Given the description of an element on the screen output the (x, y) to click on. 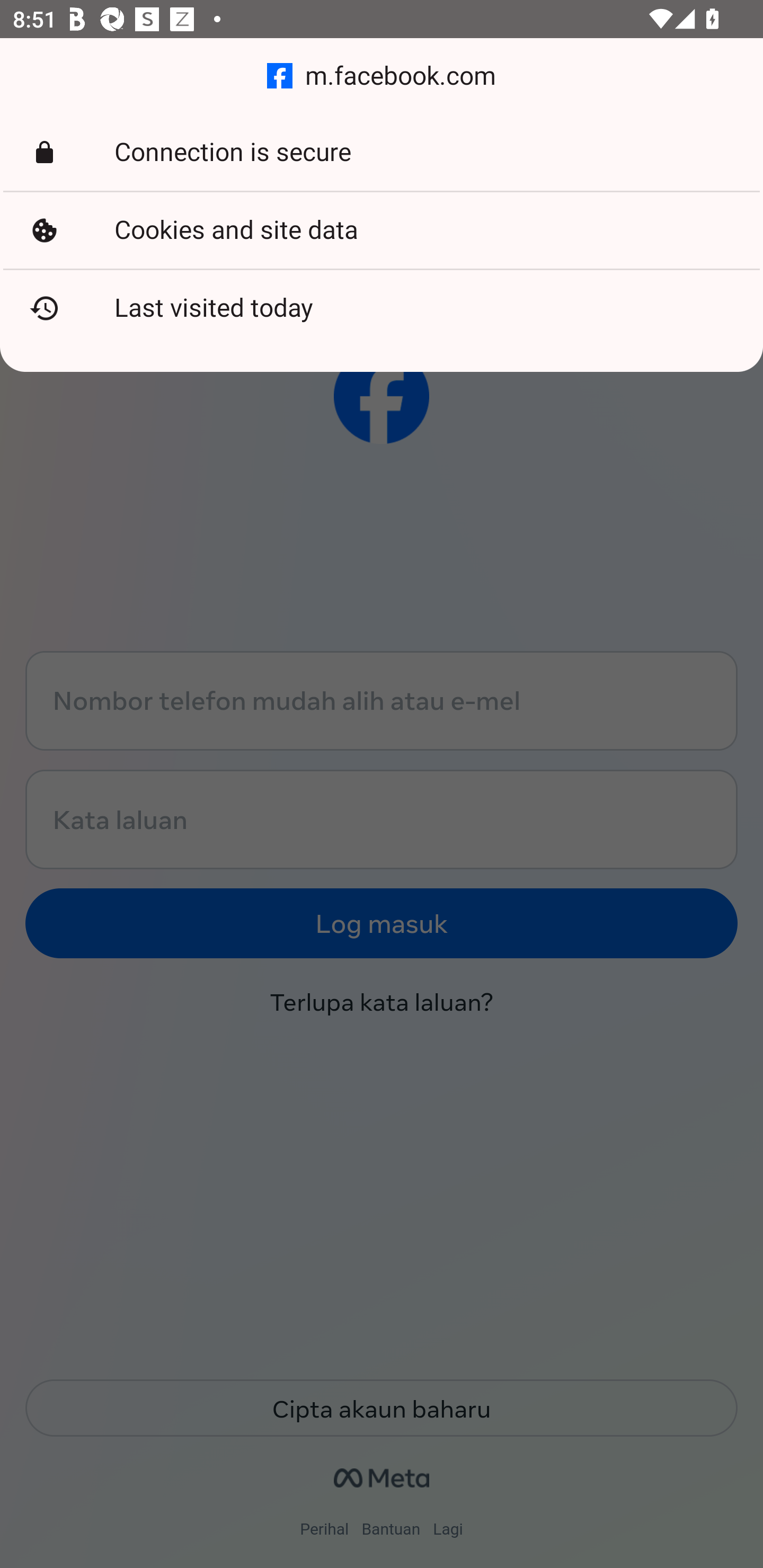
m.facebook.com (381, 75)
Connection is secure (381, 152)
Cookies and site data (381, 230)
Last visited today (381, 307)
